Given the description of an element on the screen output the (x, y) to click on. 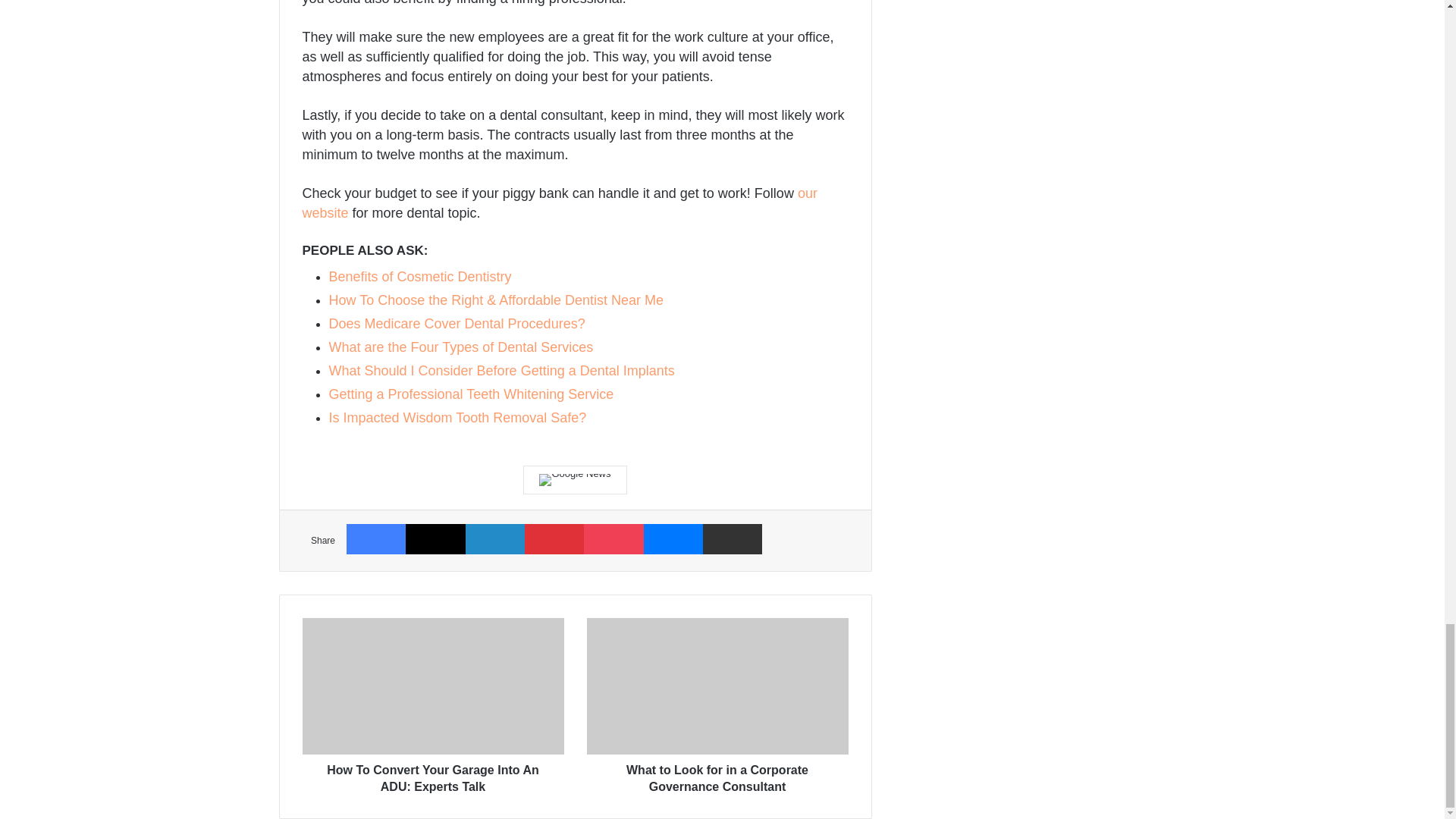
X (435, 538)
Pinterest (553, 538)
Facebook (376, 538)
Google News (574, 480)
LinkedIn (494, 538)
